Given the description of an element on the screen output the (x, y) to click on. 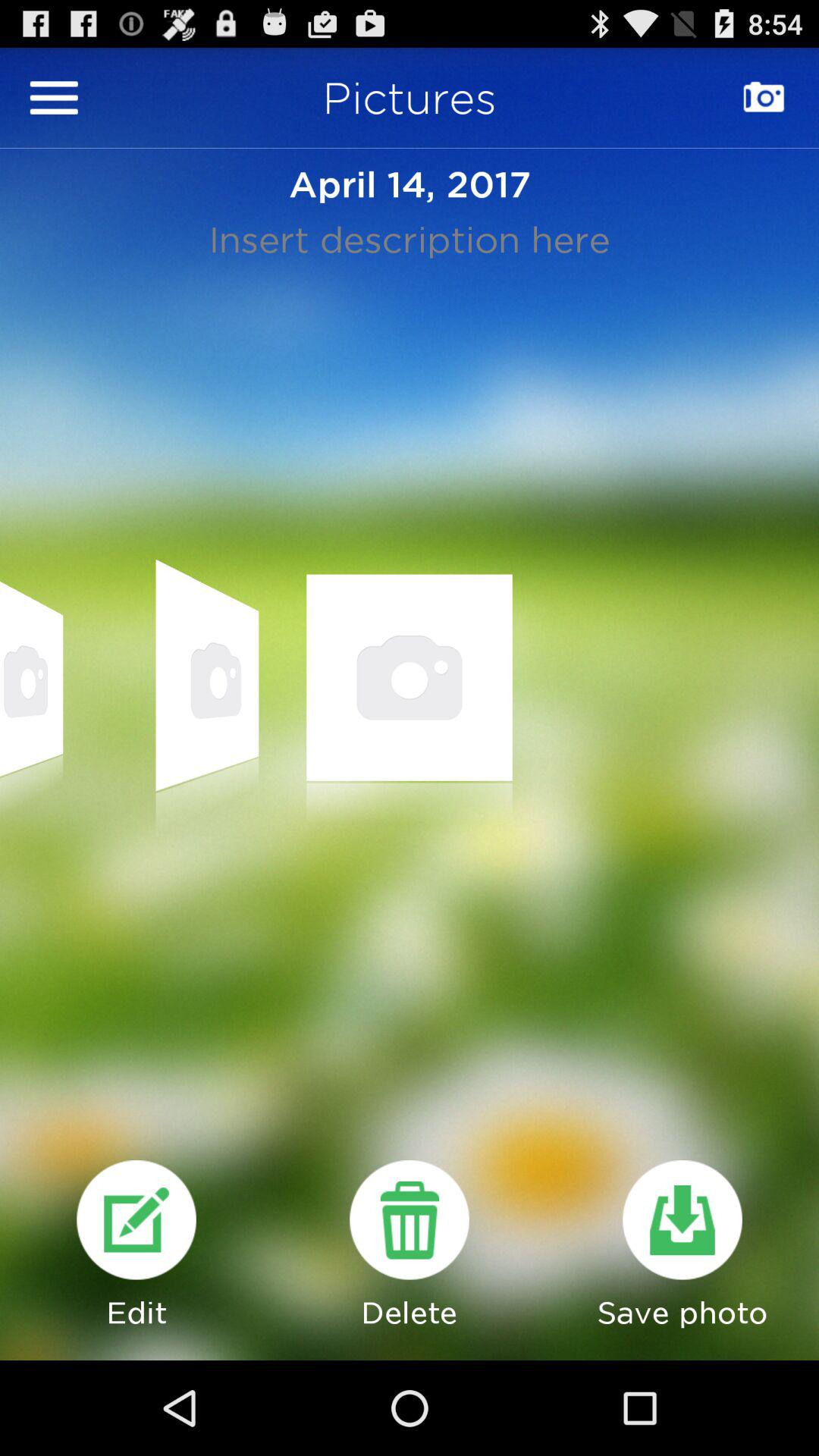
main menu button (53, 97)
